Given the description of an element on the screen output the (x, y) to click on. 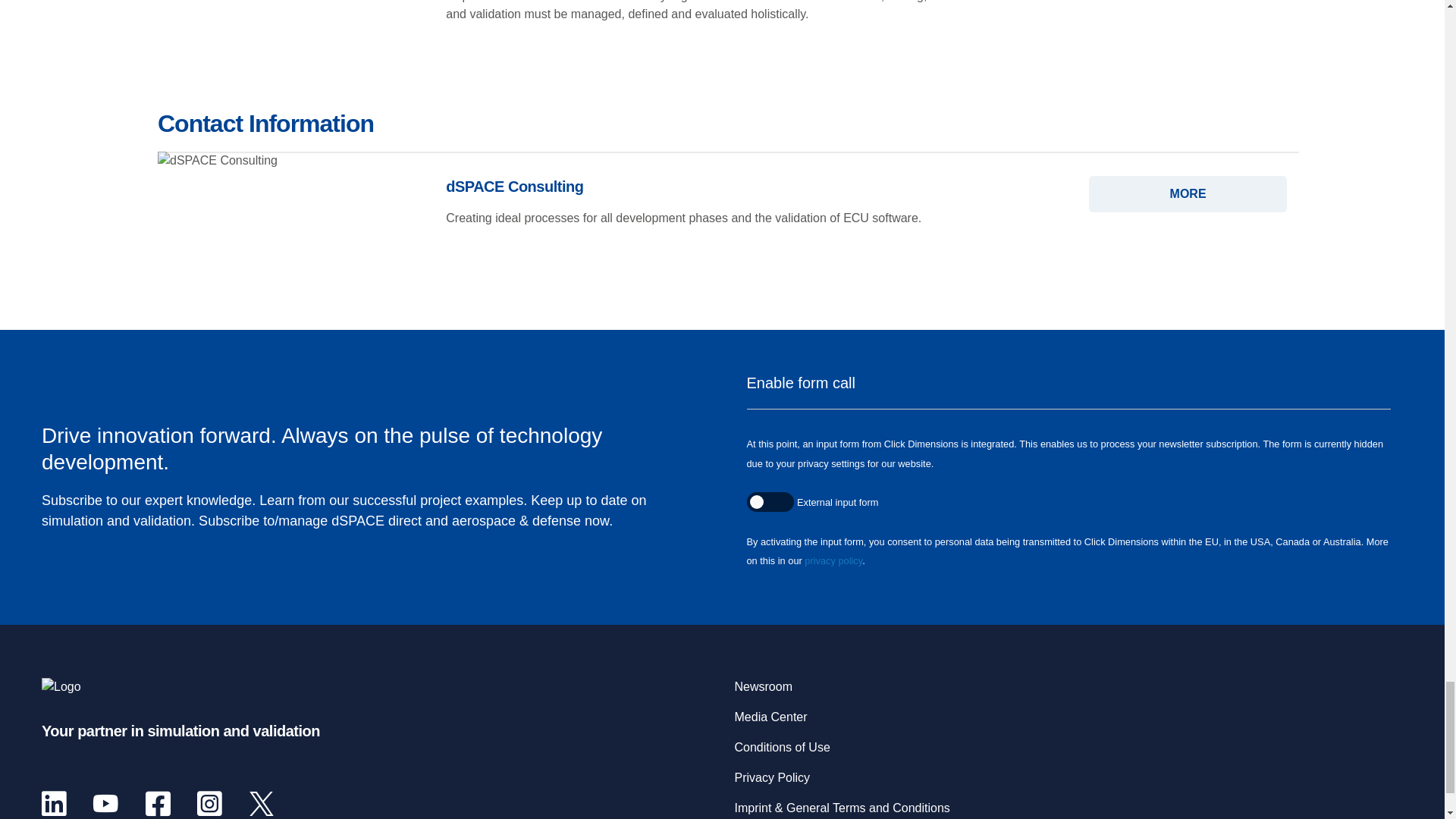
dSPACE Consulting (1188, 194)
MORE (1188, 194)
privacy policy (833, 560)
